Given the description of an element on the screen output the (x, y) to click on. 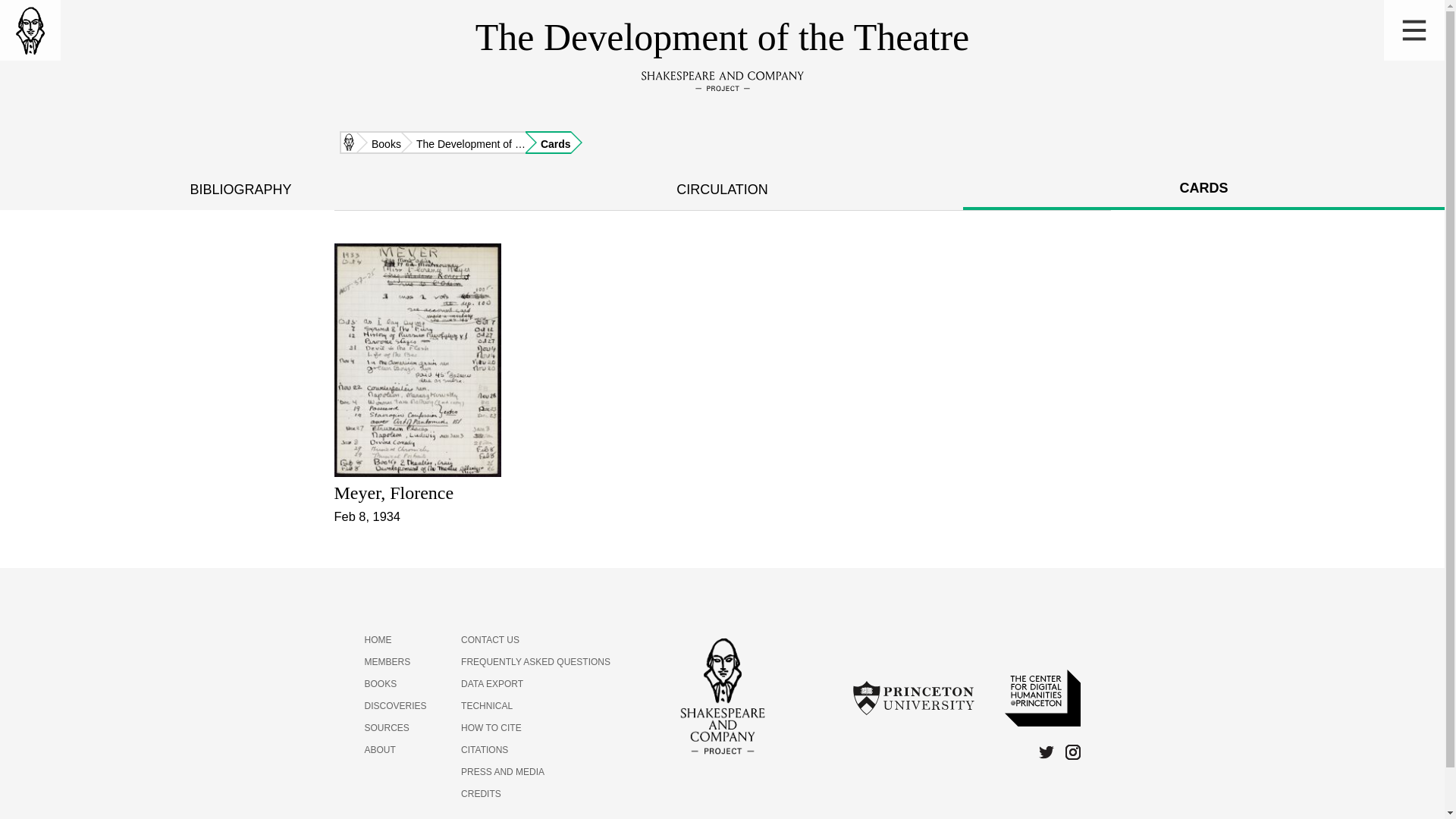
PRESS AND MEDIA (502, 771)
ABOUT (379, 749)
MEMBERS (387, 661)
Books (378, 142)
BOOKS (380, 683)
HOME (377, 639)
SOURCES (386, 727)
DATA EXPORT (491, 683)
CREDITS (480, 793)
HOW TO CITE (491, 727)
TECHNICAL (486, 706)
CIRCULATION (721, 189)
DISCOVERIES (395, 706)
CITATIONS (484, 749)
BIBLIOGRAPHY (240, 189)
